Given the description of an element on the screen output the (x, y) to click on. 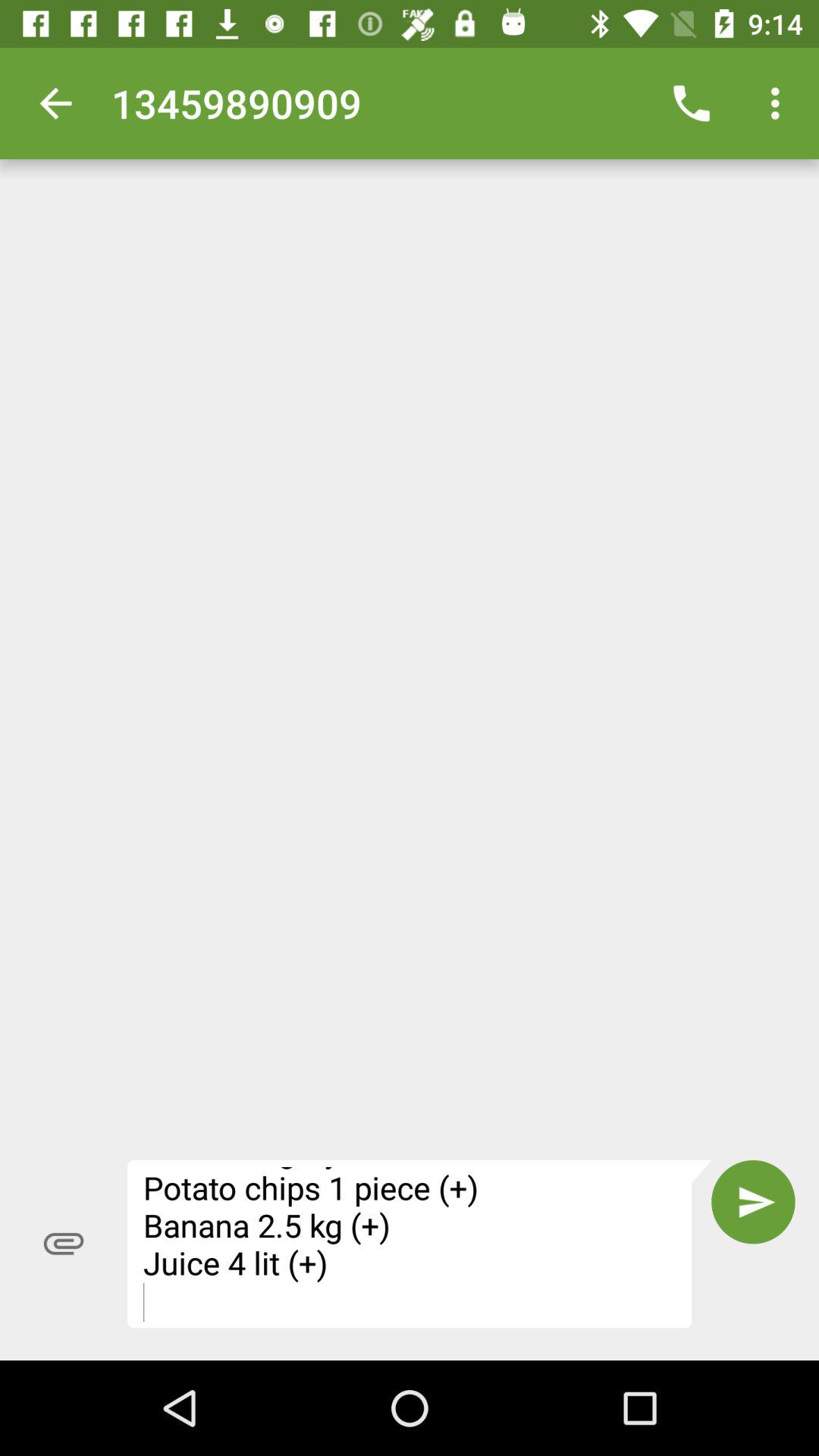
turn on the item next to fivefly shopping list (753, 1201)
